Given the description of an element on the screen output the (x, y) to click on. 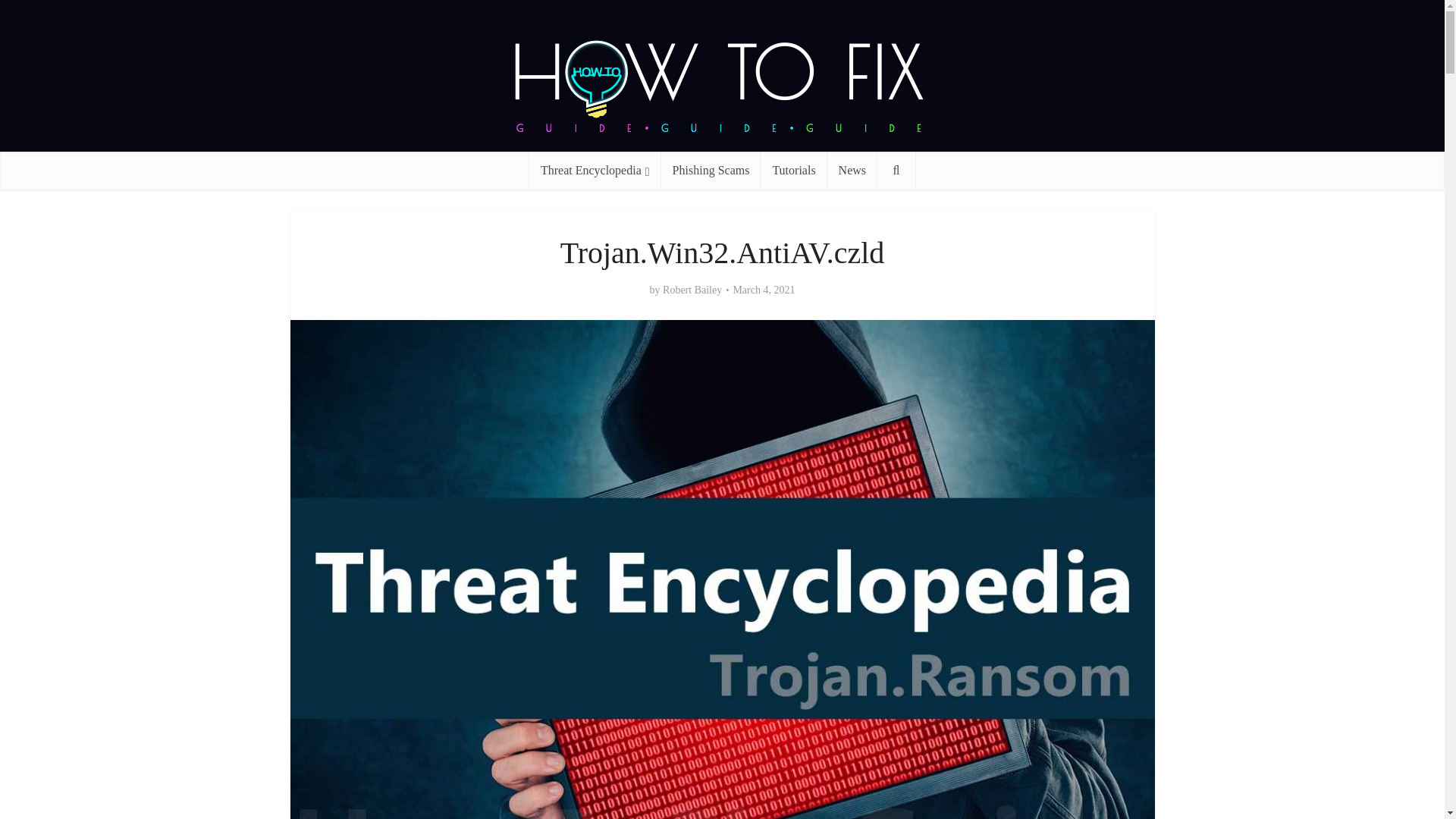
Tutorials (793, 170)
Phishing Scams (711, 170)
News (852, 170)
Threat Encyclopedia (595, 170)
Robert Bailey (692, 290)
